Given the description of an element on the screen output the (x, y) to click on. 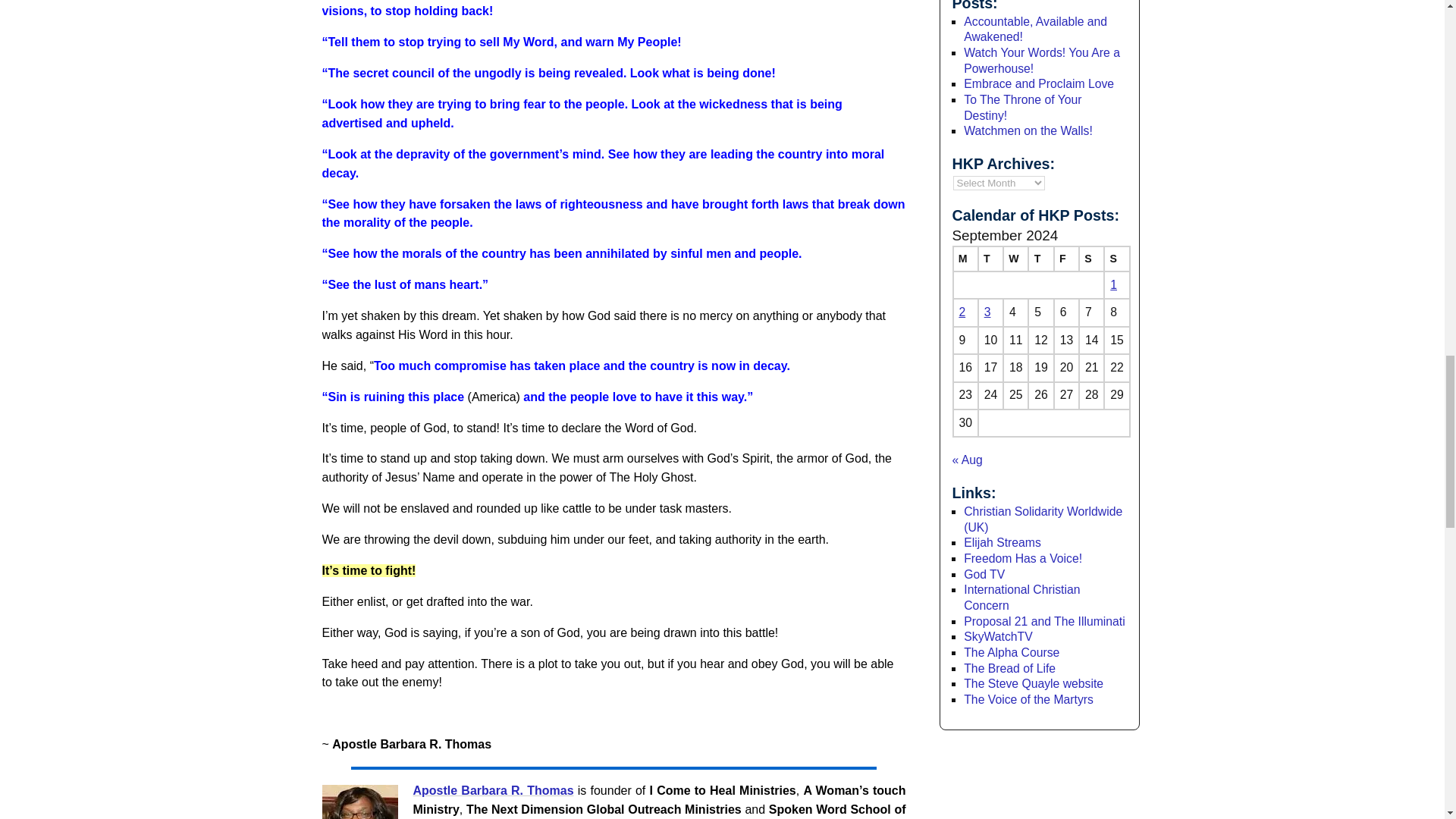
Wednesday (1015, 258)
Thursday (1039, 258)
Tuesday (990, 258)
Friday (1066, 258)
Monday (964, 258)
